Given the description of an element on the screen output the (x, y) to click on. 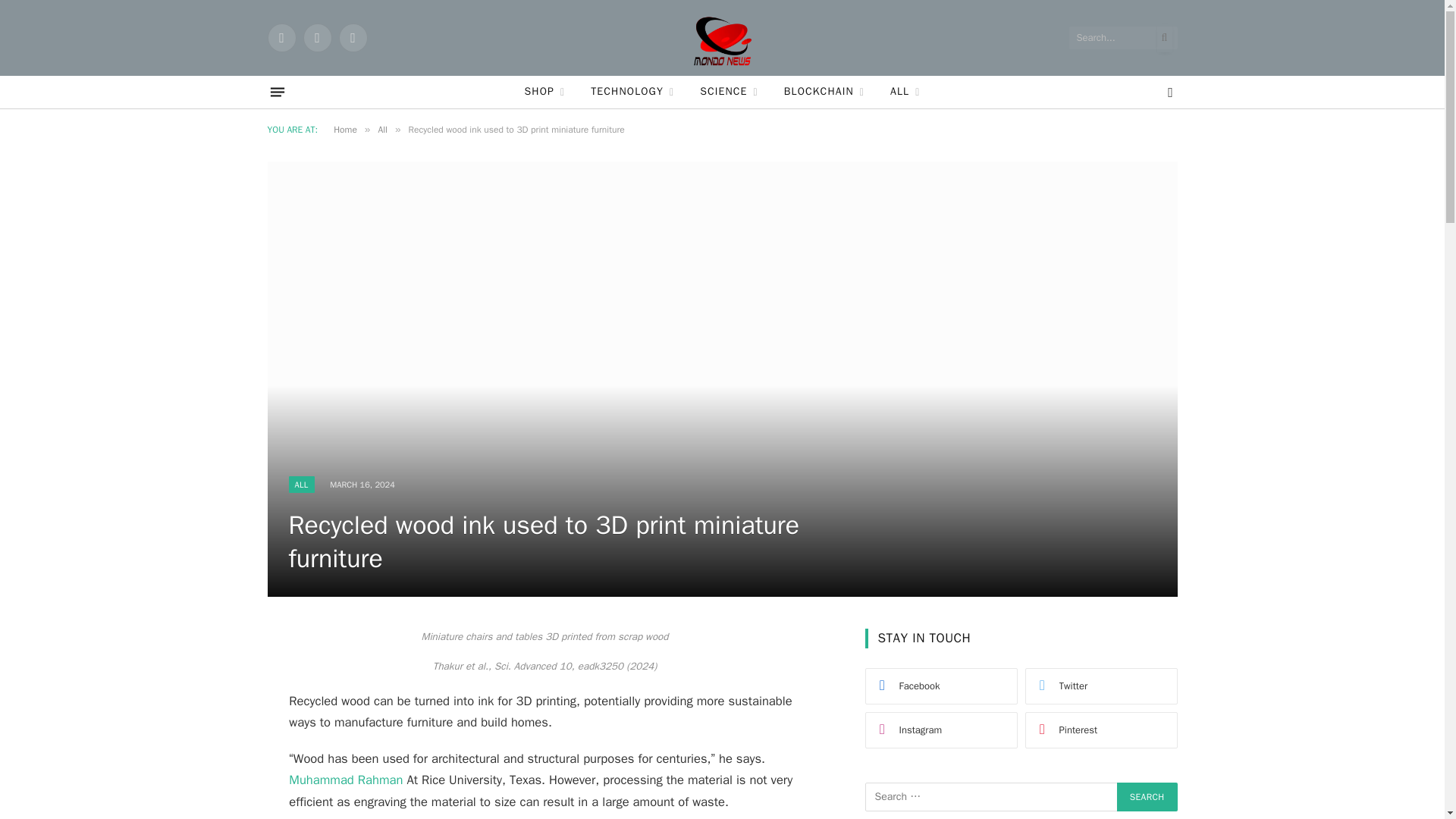
Search (1146, 796)
Search (1146, 796)
Instagram (351, 37)
TECHNOLOGY (632, 92)
SHOP (545, 92)
Facebook (280, 37)
